Given the description of an element on the screen output the (x, y) to click on. 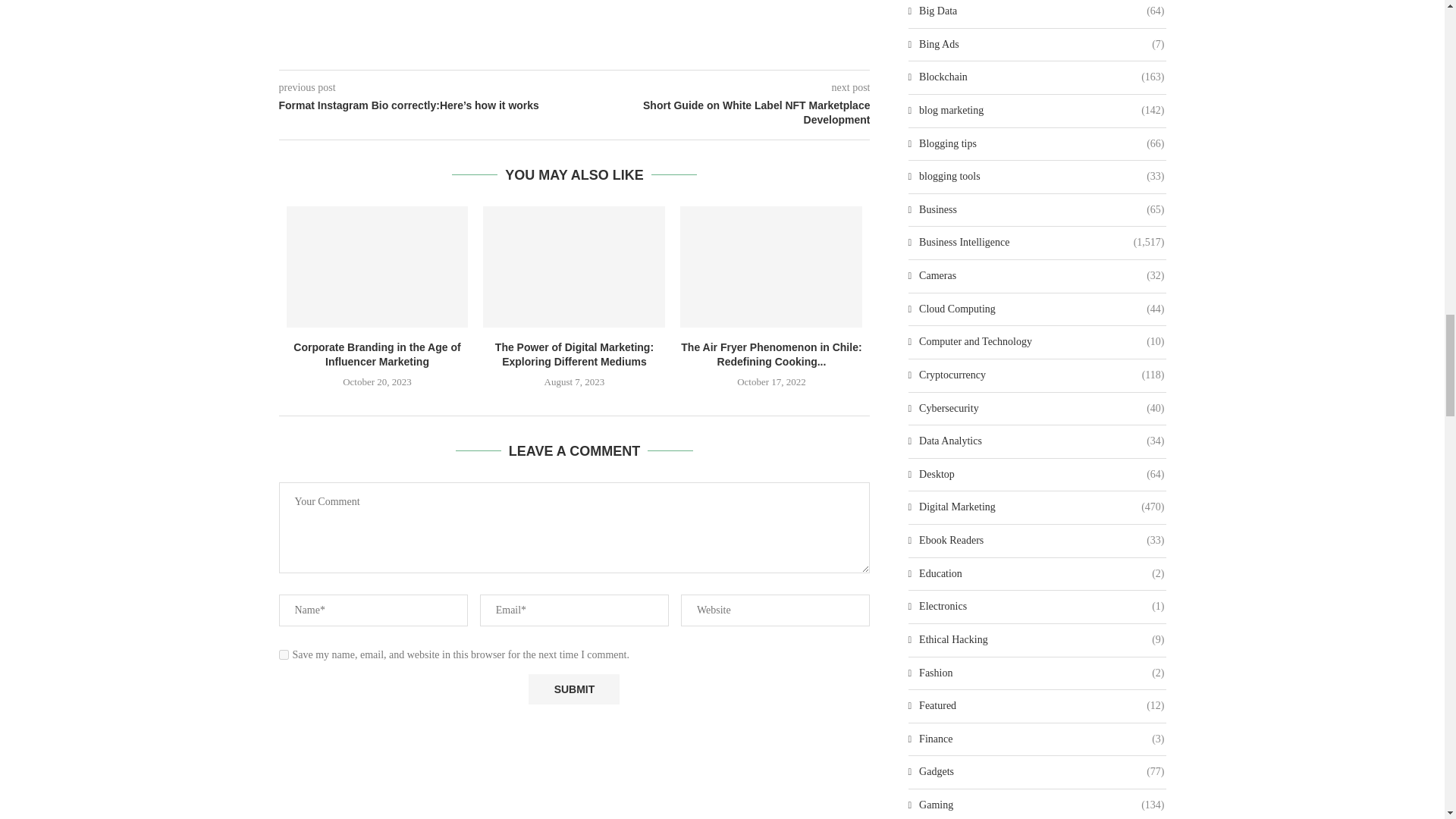
Short Guide on White Label NFT Marketplace Development (722, 112)
Corporate Branding in the Age of Influencer Marketing (377, 354)
Submit (574, 689)
The Power of Digital Marketing: Exploring Different Mediums (574, 266)
yes (283, 655)
Corporate Branding in the Age of Influencer Marketing (377, 266)
